Given the description of an element on the screen output the (x, y) to click on. 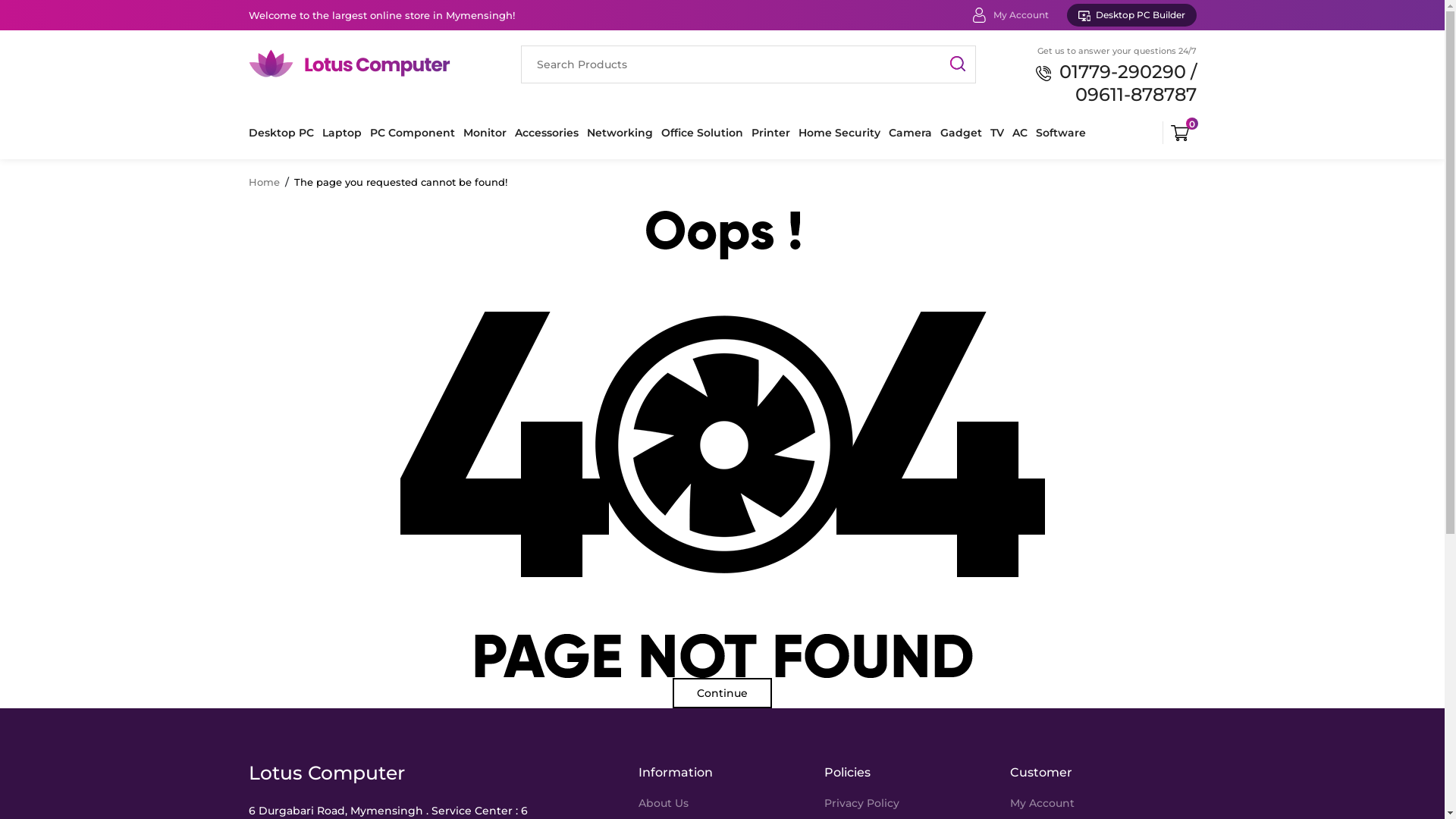
Camera Element type: text (909, 132)
Accessories Element type: text (545, 132)
About Us Element type: text (663, 802)
Laptop Element type: text (340, 132)
Home Security Element type: text (838, 132)
Desktop PC Builder Element type: text (1130, 14)
PC Component Element type: text (412, 132)
Monitor Element type: text (483, 132)
Office Solution Element type: text (702, 132)
My Account Element type: text (1020, 14)
Continue Element type: text (721, 692)
Desktop PC Element type: text (280, 132)
The page you requested cannot be found! Element type: text (400, 182)
My Account Element type: text (1042, 802)
Software Element type: text (1060, 132)
Desktop PC Builder Element type: text (1130, 15)
Home Element type: text (263, 182)
Networking Element type: text (619, 132)
TV Element type: text (997, 132)
AC Element type: text (1018, 132)
Printer Element type: text (769, 132)
Privacy Policy Element type: text (861, 802)
Gadget Element type: text (961, 132)
